Given the description of an element on the screen output the (x, y) to click on. 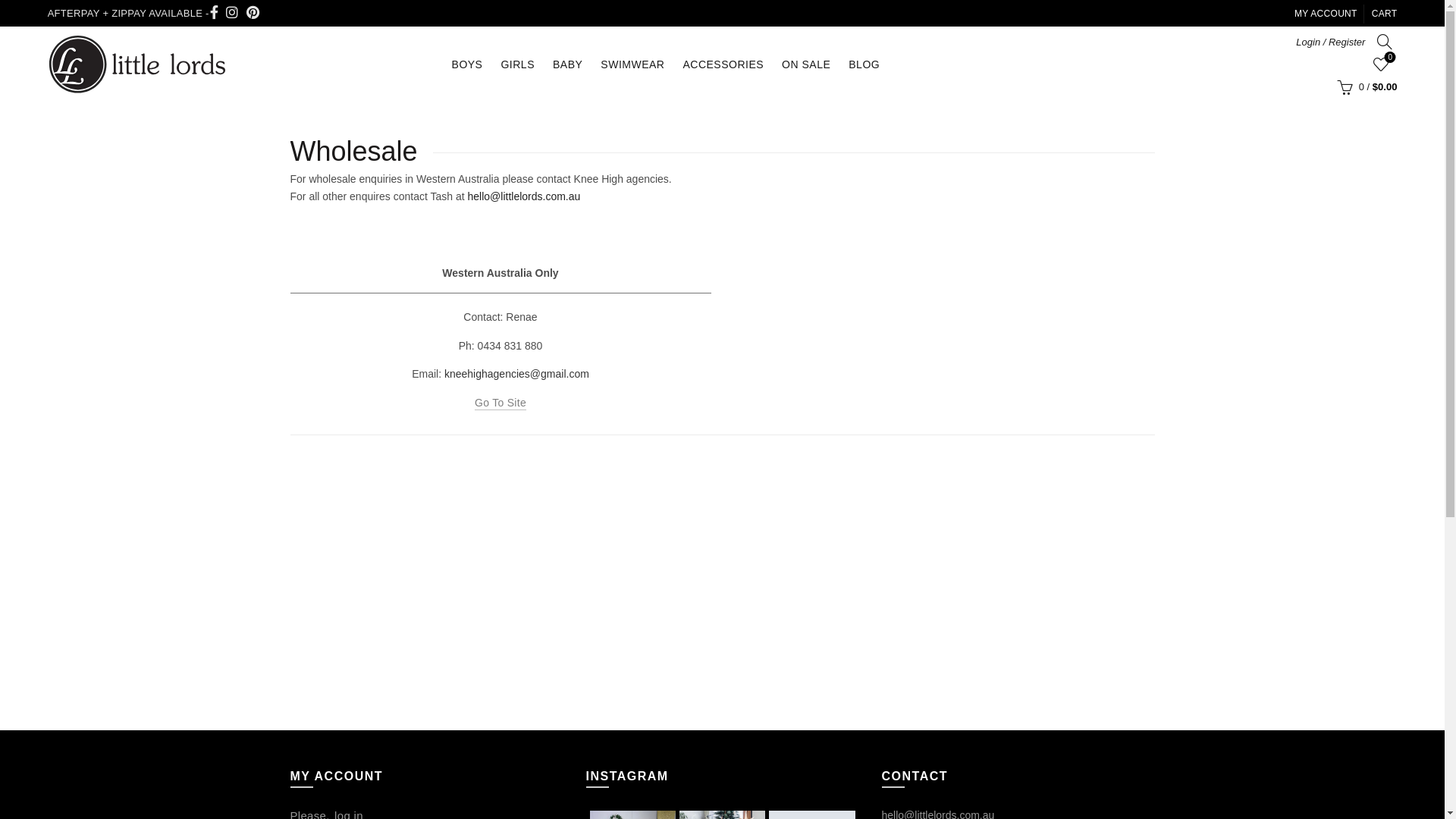
ACCESSORIES Element type: text (722, 64)
Wishlist
0 Element type: text (1380, 64)
BOYS Element type: text (467, 64)
ON SALE Element type: text (805, 64)
CART Element type: text (1384, 13)
hello@littlelords.com.au Element type: text (523, 196)
MY ACCOUNT Element type: text (1325, 13)
0 / $0.00 Element type: text (1365, 86)
Search Element type: text (1360, 83)
BABY Element type: text (567, 64)
GIRLS Element type: text (517, 64)
SWIMWEAR Element type: text (632, 64)
Login / Register Element type: text (1330, 41)
kneehighagencies@gmail.com Element type: text (516, 373)
Go To Site Element type: text (500, 402)
BLOG Element type: text (863, 64)
